Given the description of an element on the screen output the (x, y) to click on. 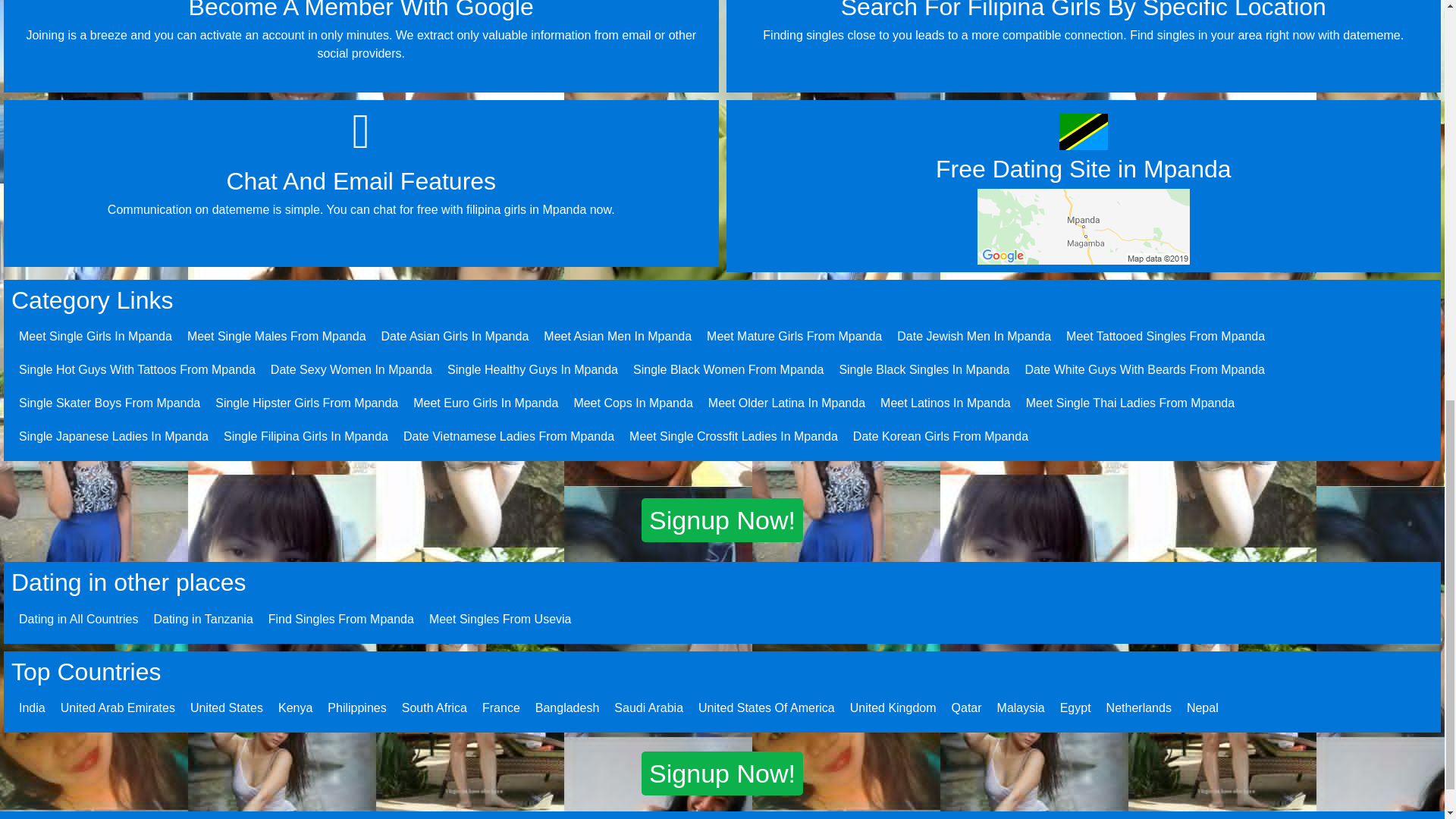
Meet Single Males From Mpanda (276, 336)
Date Asian Girls In Mpanda (455, 336)
Meet Asian Men In Mpanda (617, 336)
Meet Single Girls In Mpanda (94, 336)
